Given the description of an element on the screen output the (x, y) to click on. 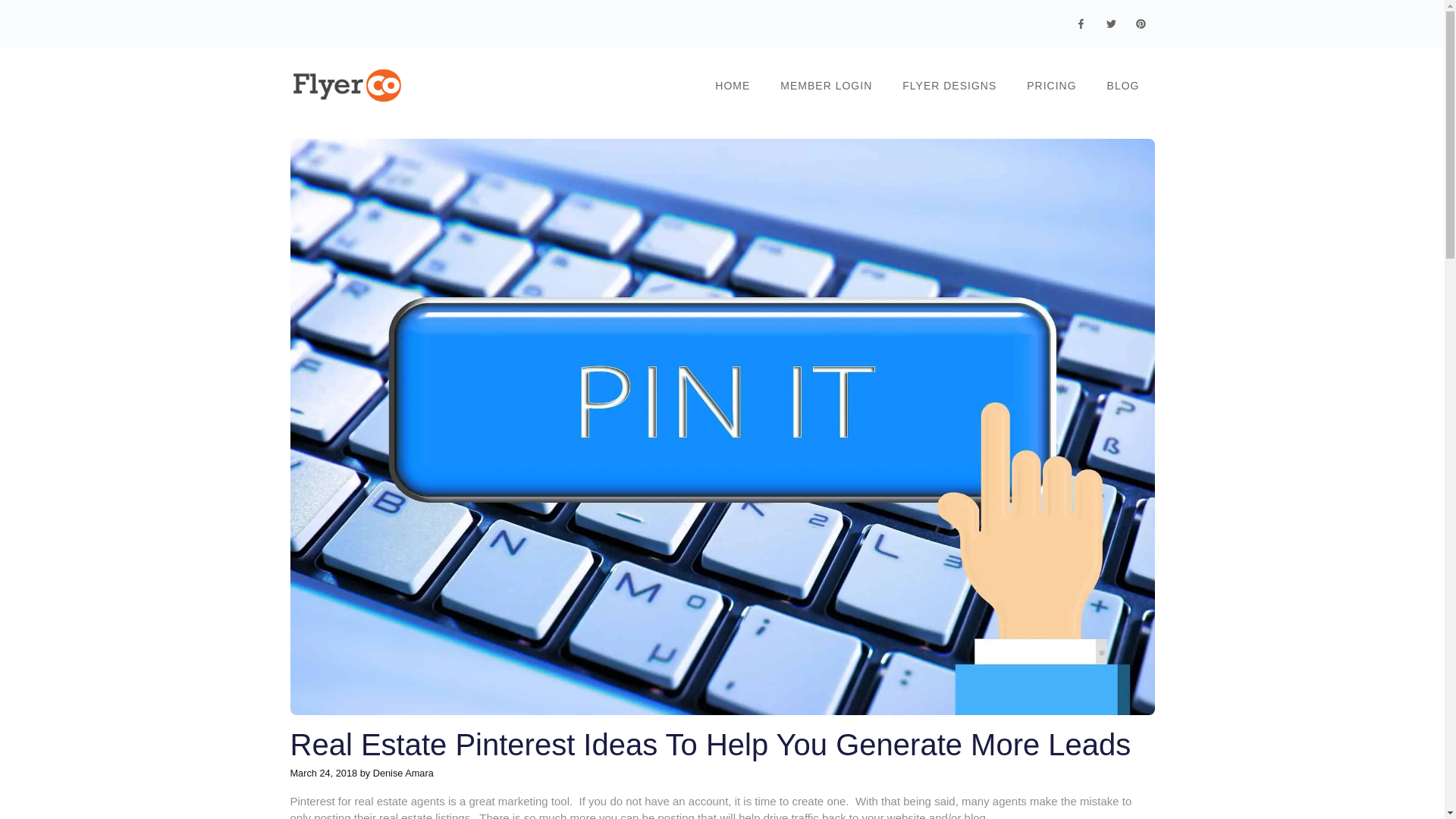
BLOG (1123, 85)
PRICING (1050, 85)
FLYER DESIGNS (948, 85)
MEMBER LOGIN (825, 85)
HOME (732, 85)
